Given the description of an element on the screen output the (x, y) to click on. 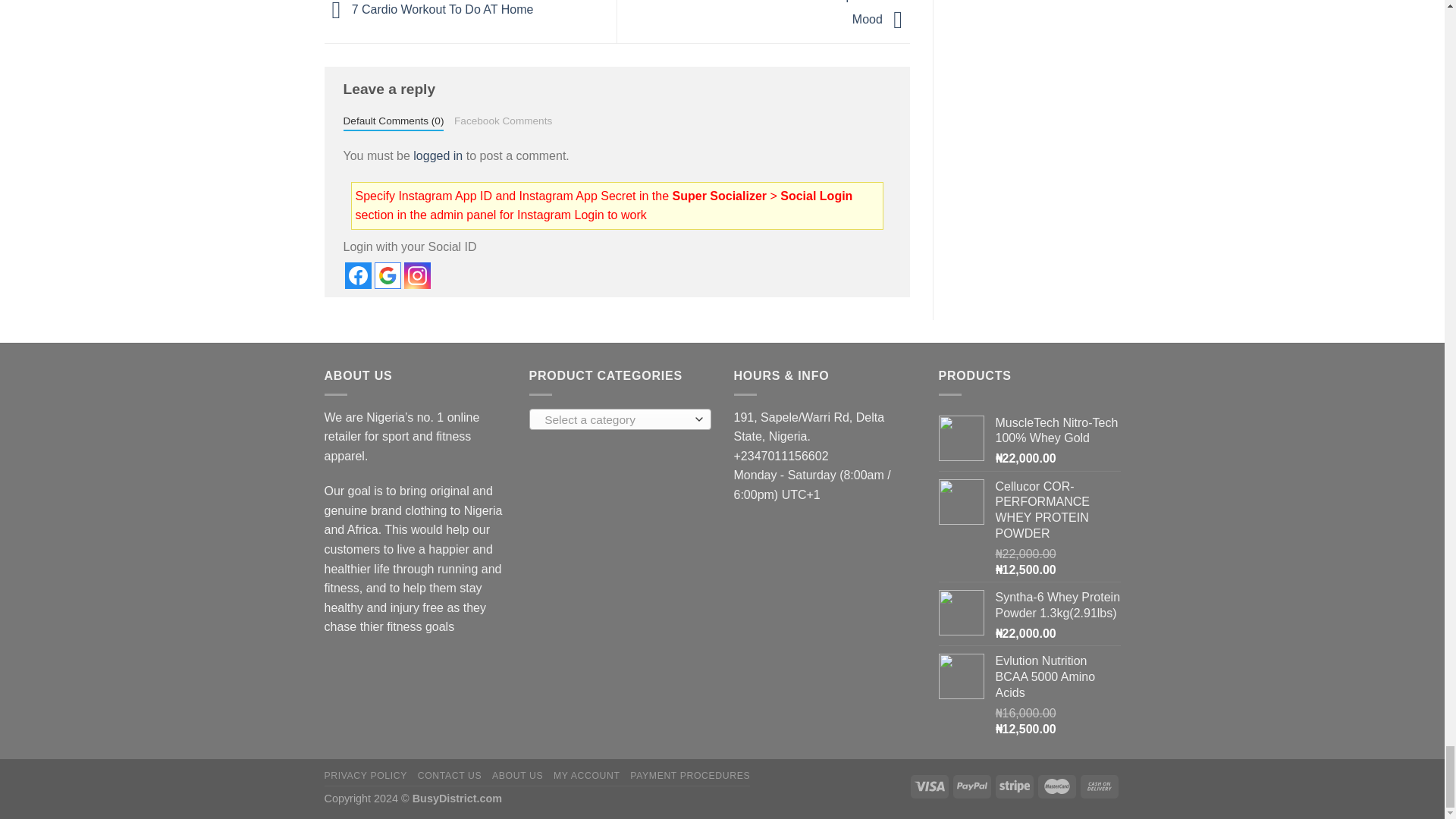
Login with Instagram (416, 275)
7 Cardio Workout To Do AT Home (429, 9)
Login with Facebook (357, 275)
Login with Google (387, 275)
